Given the description of an element on the screen output the (x, y) to click on. 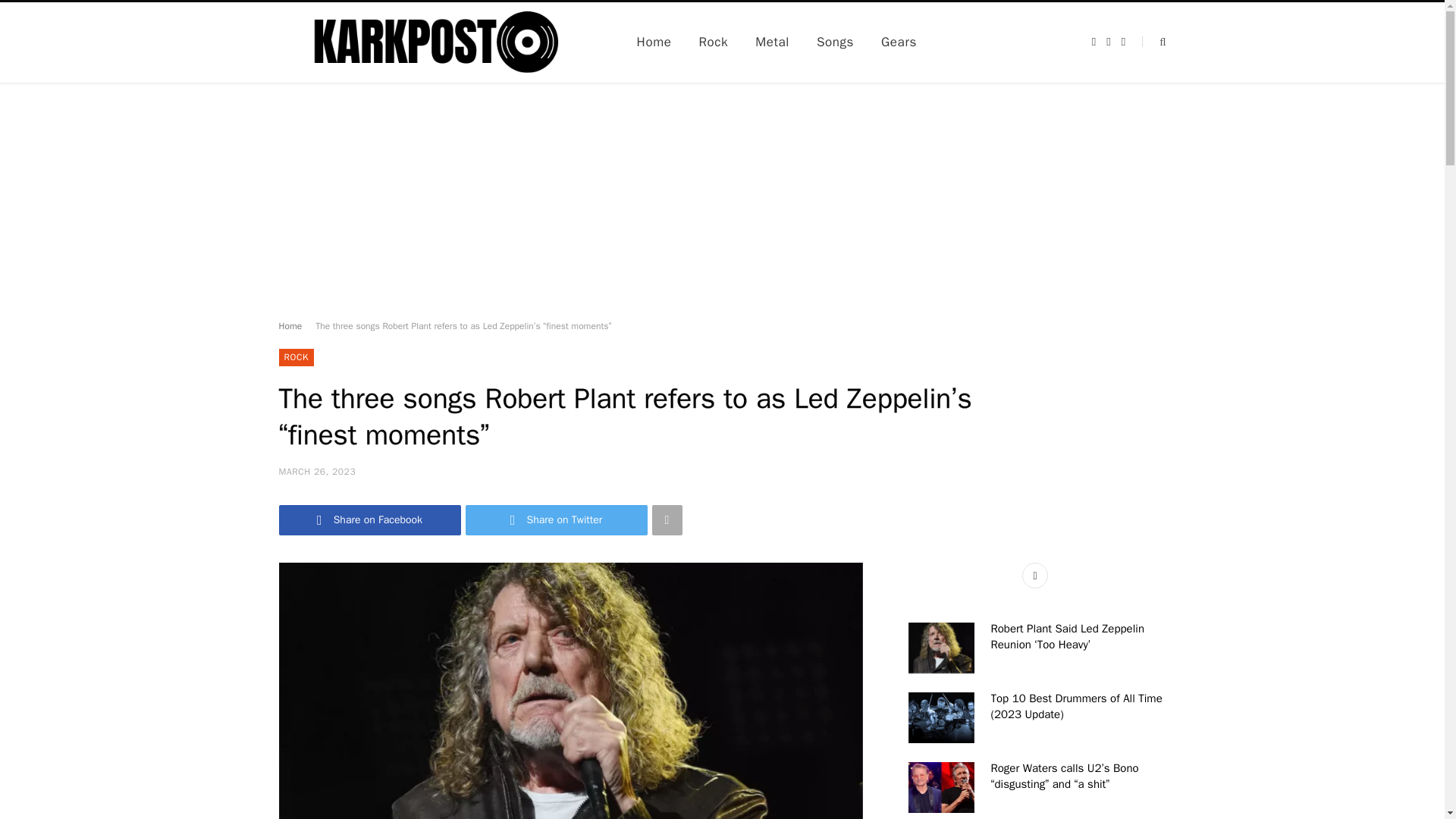
Share on Twitter (556, 520)
ROCK (296, 357)
MARCH 26, 2023 (317, 471)
Share on Twitter (556, 520)
Kark Post (434, 42)
Search (1153, 41)
Share on Facebook (370, 520)
Home (290, 325)
Share on Facebook (370, 520)
